Given the description of an element on the screen output the (x, y) to click on. 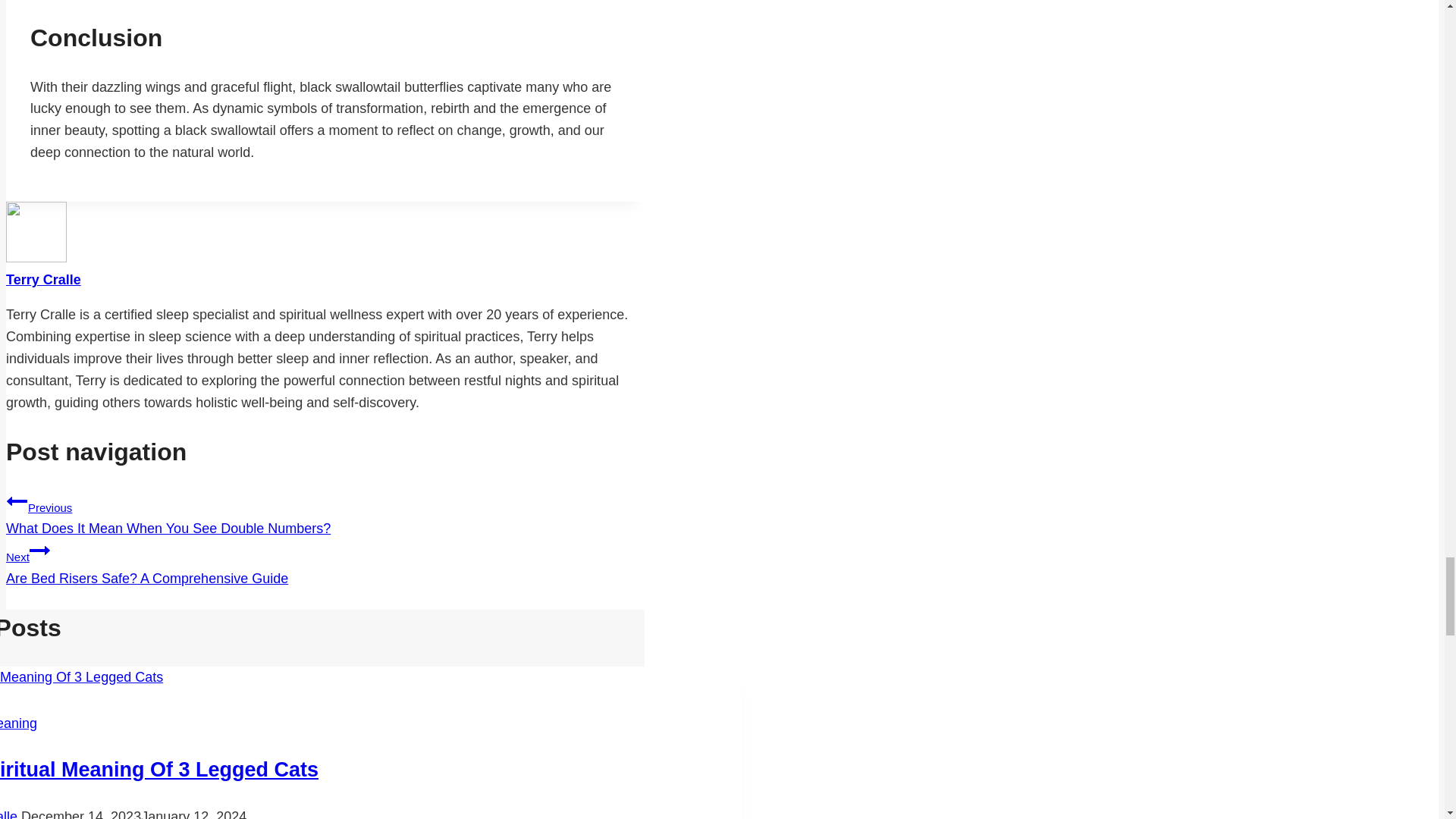
Terry Cralle (8, 814)
Posts by Terry Cralle (43, 279)
Continue (39, 550)
Previous (325, 562)
Terry Cralle (16, 500)
Spiritual Meaning (43, 279)
The Spiritual Meaning Of 3 Legged Cats (18, 723)
